Given the description of an element on the screen output the (x, y) to click on. 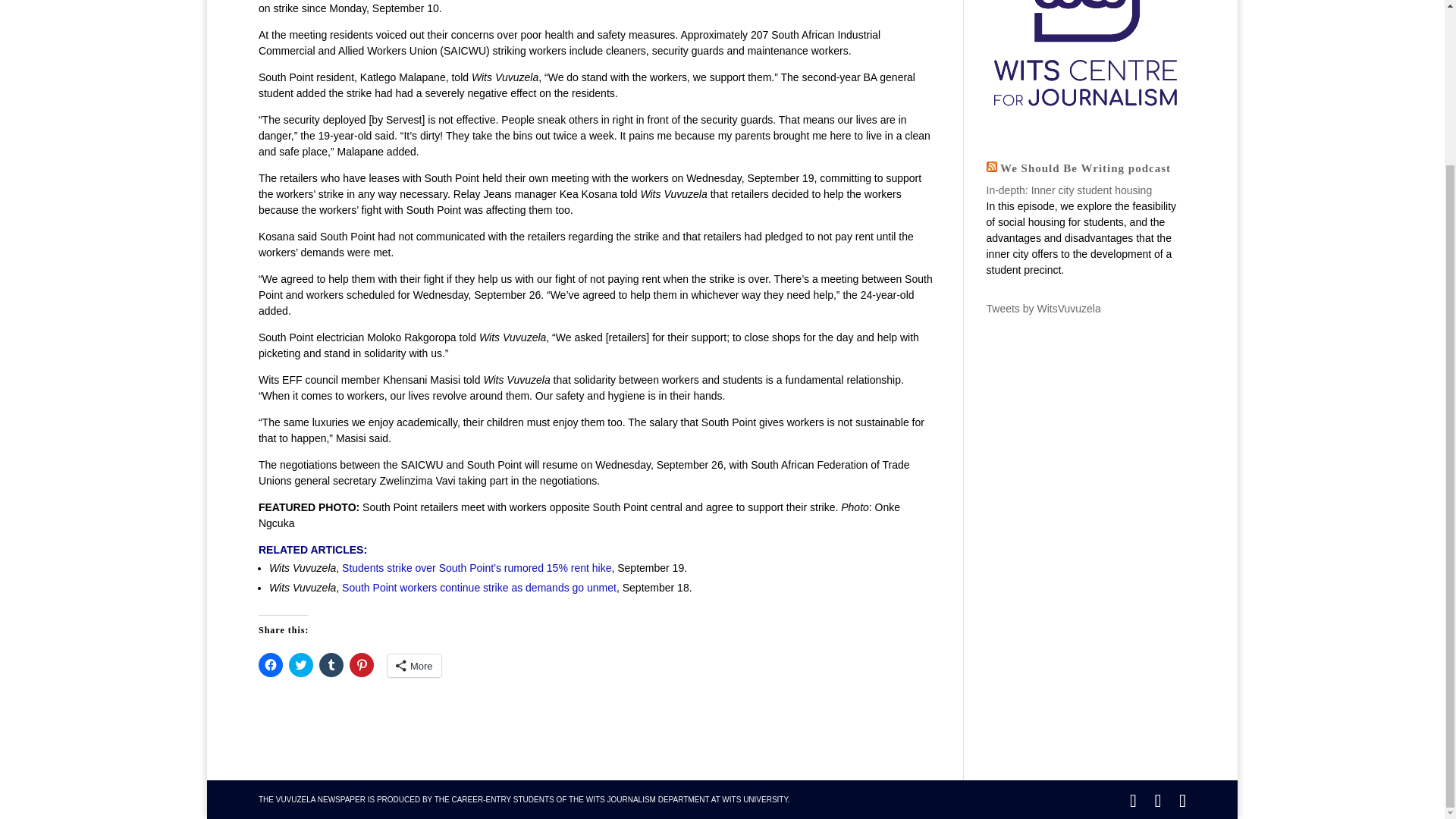
Click to share on Tumblr (330, 664)
Tweets by WitsVuvuzela (1042, 308)
In-depth: Inner city student housing (1068, 190)
Click to share on Twitter (300, 664)
Click to share on Pinterest (361, 664)
We Should Be Writing podcast (1085, 168)
South Point workers continue strike as demands go unmet (478, 587)
Click to share on Facebook (270, 664)
More (414, 665)
